Given the description of an element on the screen output the (x, y) to click on. 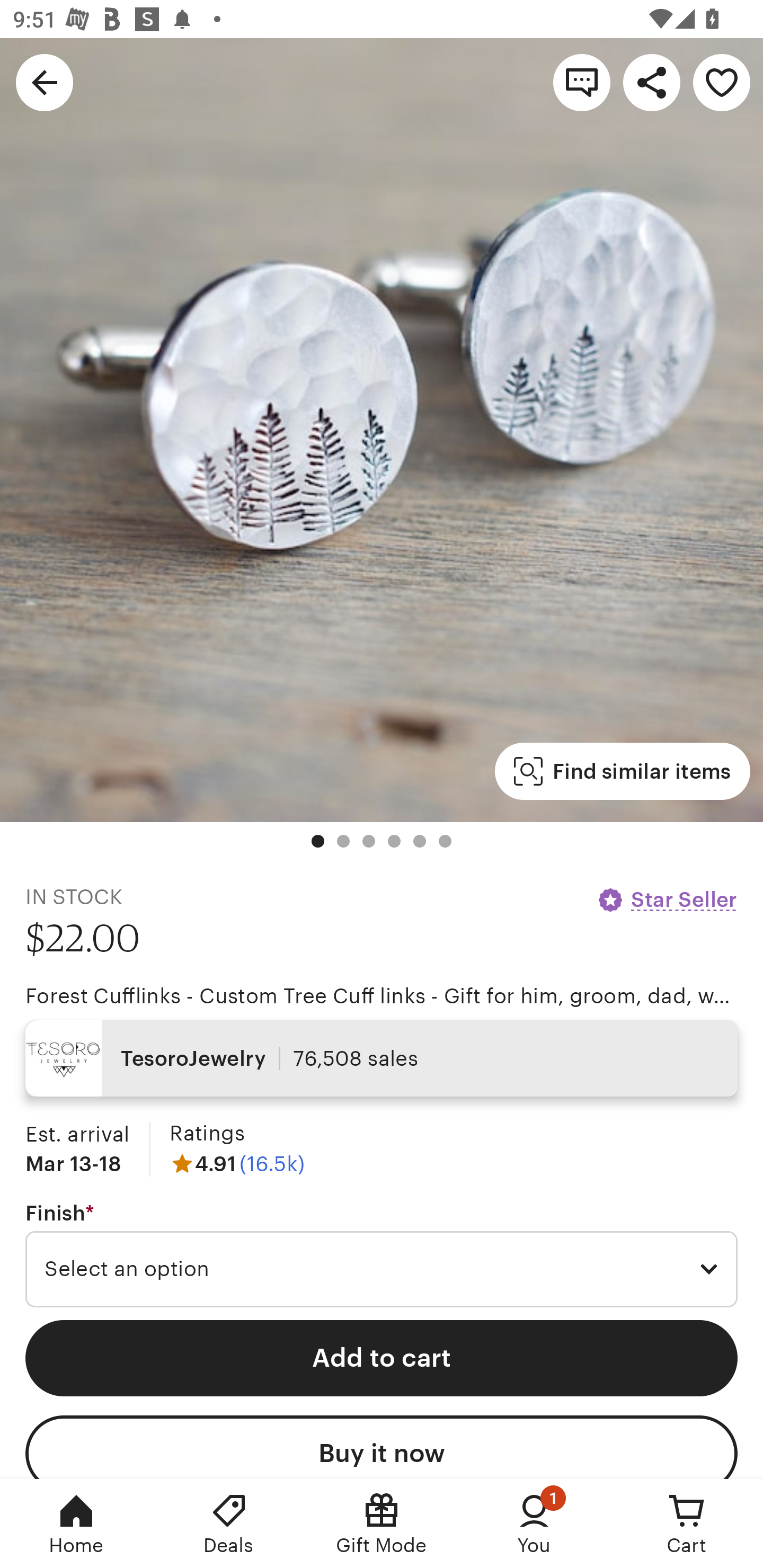
Navigate up (44, 81)
Contact shop (581, 81)
Share (651, 81)
Find similar items (622, 771)
Star Seller (666, 899)
TesoroJewelry 76,508 sales (381, 1058)
Ratings (206, 1133)
4.91 (16.5k) (237, 1163)
Finish * Required Select an option (381, 1254)
Select an option (381, 1268)
Add to cart (381, 1358)
Buy it now (381, 1446)
Deals (228, 1523)
Gift Mode (381, 1523)
You, 1 new notification You (533, 1523)
Cart (686, 1523)
